Given the description of an element on the screen output the (x, y) to click on. 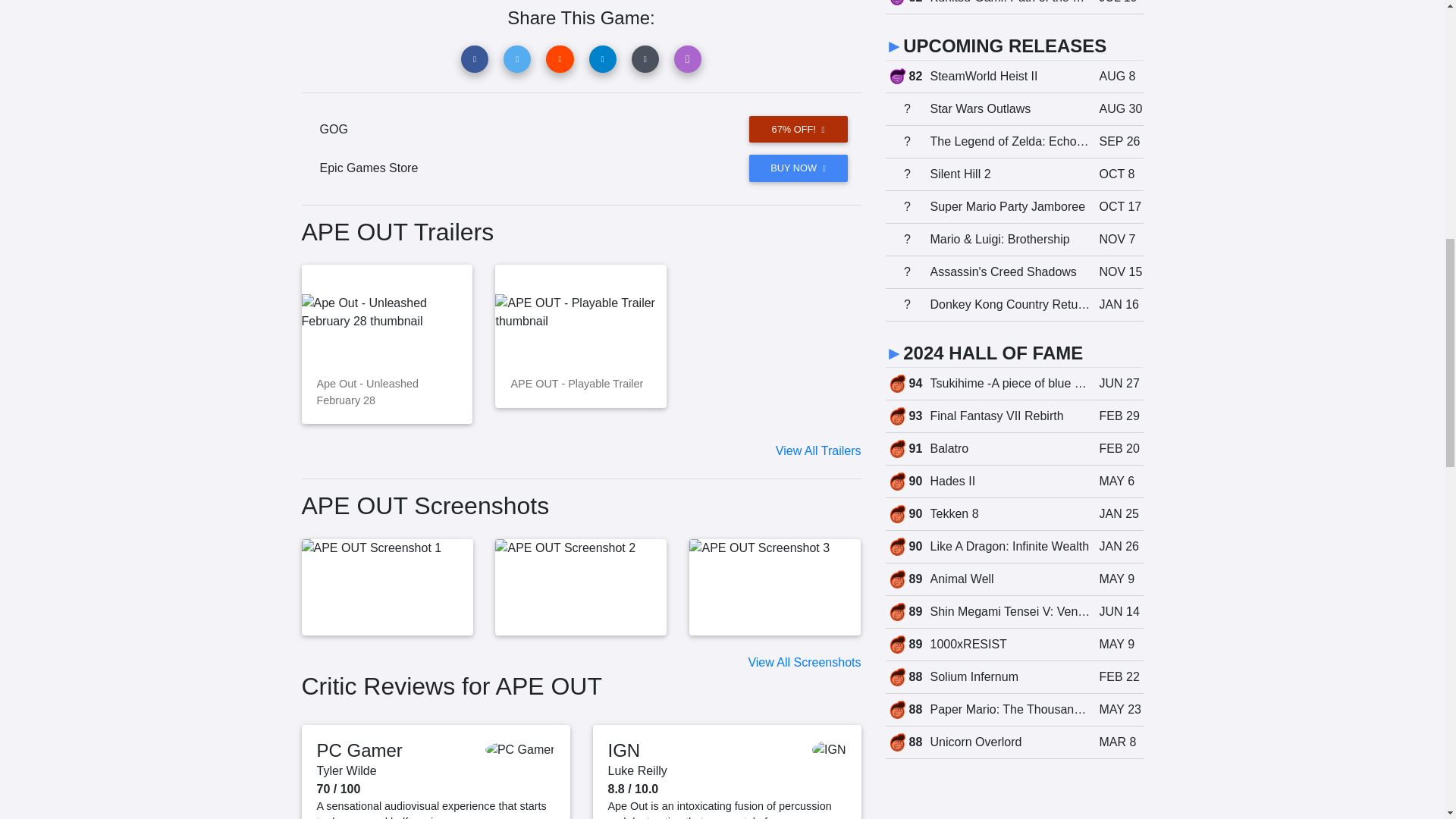
View All Screenshots (804, 662)
Luke Reilly (637, 770)
View All Trailers (818, 450)
Tyler Wilde (347, 770)
BUY NOW (798, 167)
IGN (624, 750)
PC Gamer (360, 750)
